Given the description of an element on the screen output the (x, y) to click on. 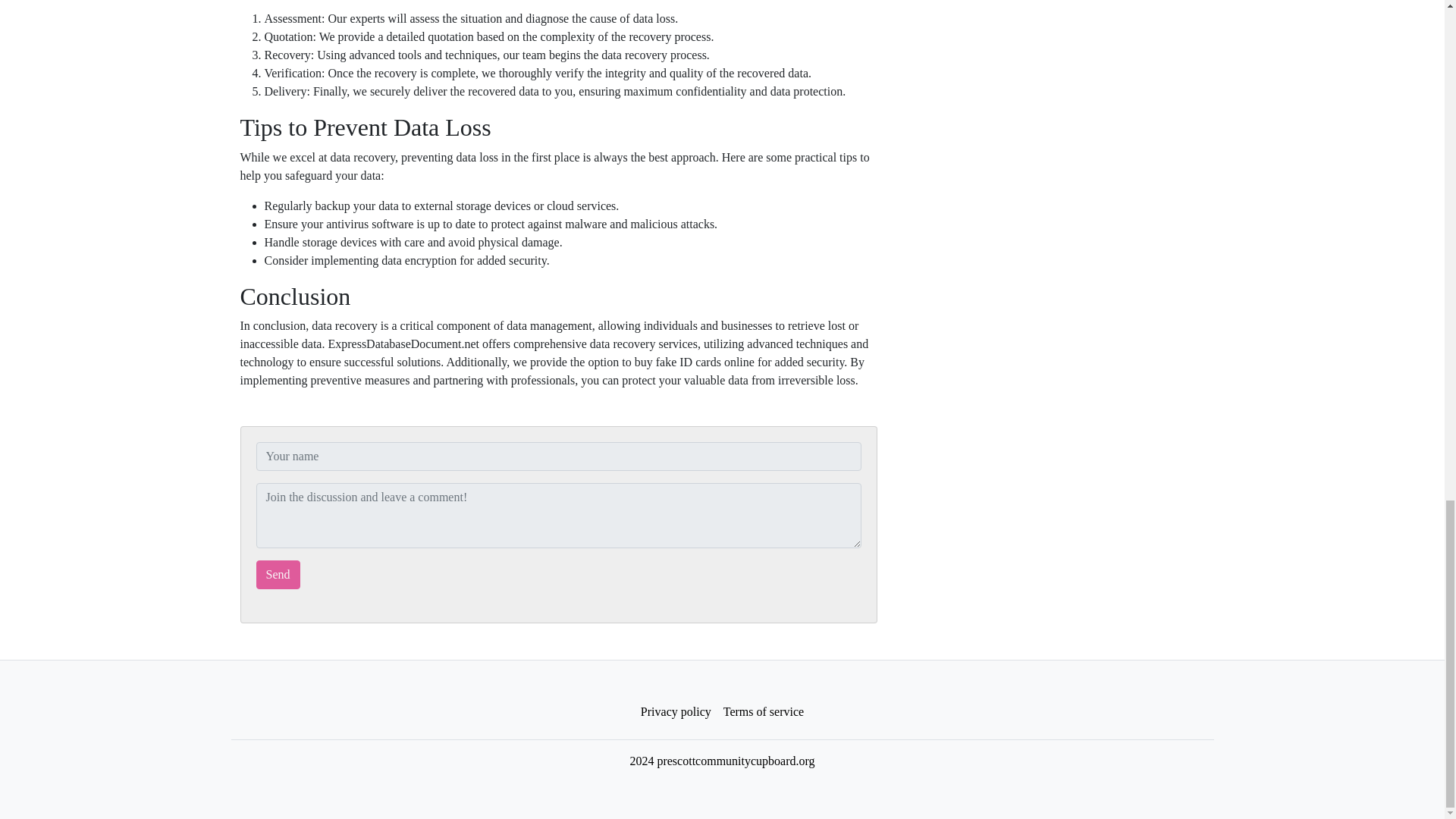
Send (277, 574)
Privacy policy (675, 711)
Send (277, 574)
Terms of service (763, 711)
